Given the description of an element on the screen output the (x, y) to click on. 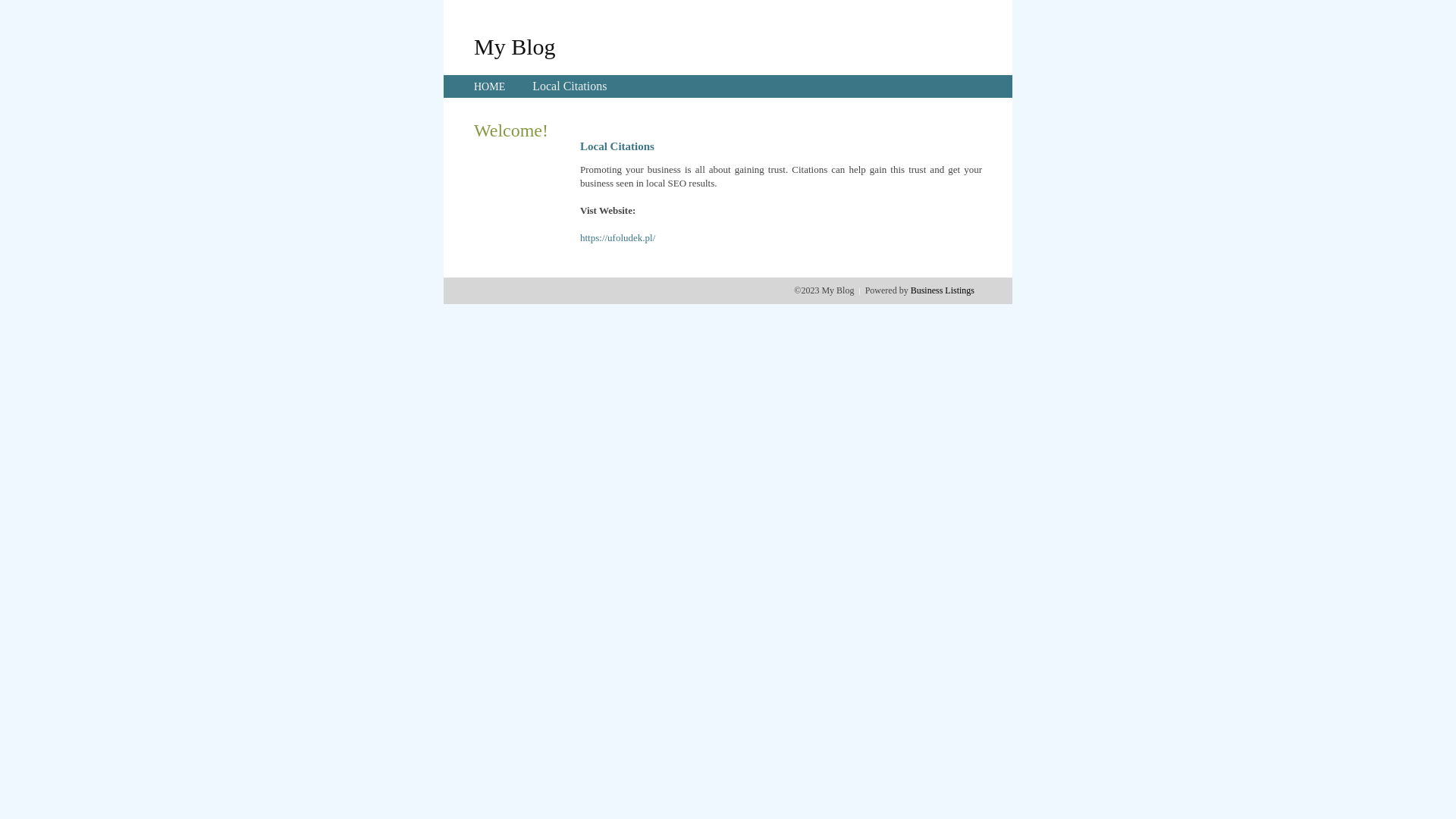
My Blog Element type: text (514, 46)
https://ufoludek.pl/ Element type: text (617, 237)
Local Citations Element type: text (569, 85)
Business Listings Element type: text (942, 290)
HOME Element type: text (489, 86)
